Given the description of an element on the screen output the (x, y) to click on. 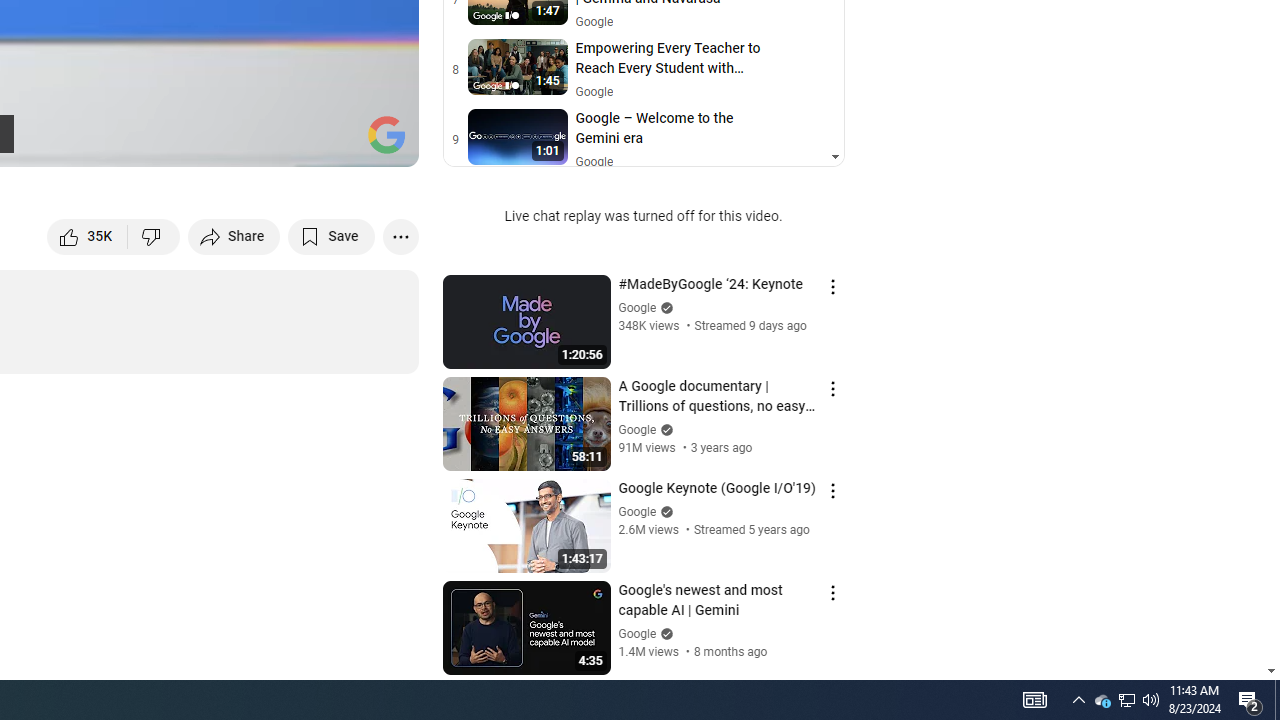
Channel watermark (386, 134)
like this video along with 35,367 other people (88, 236)
Full screen (f) (382, 142)
Channel watermark (386, 134)
Theater mode (t) (333, 142)
Dislike this video (154, 236)
Save to playlist (331, 236)
More actions (399, 236)
Miniplayer (i) (286, 142)
